Given the description of an element on the screen output the (x, y) to click on. 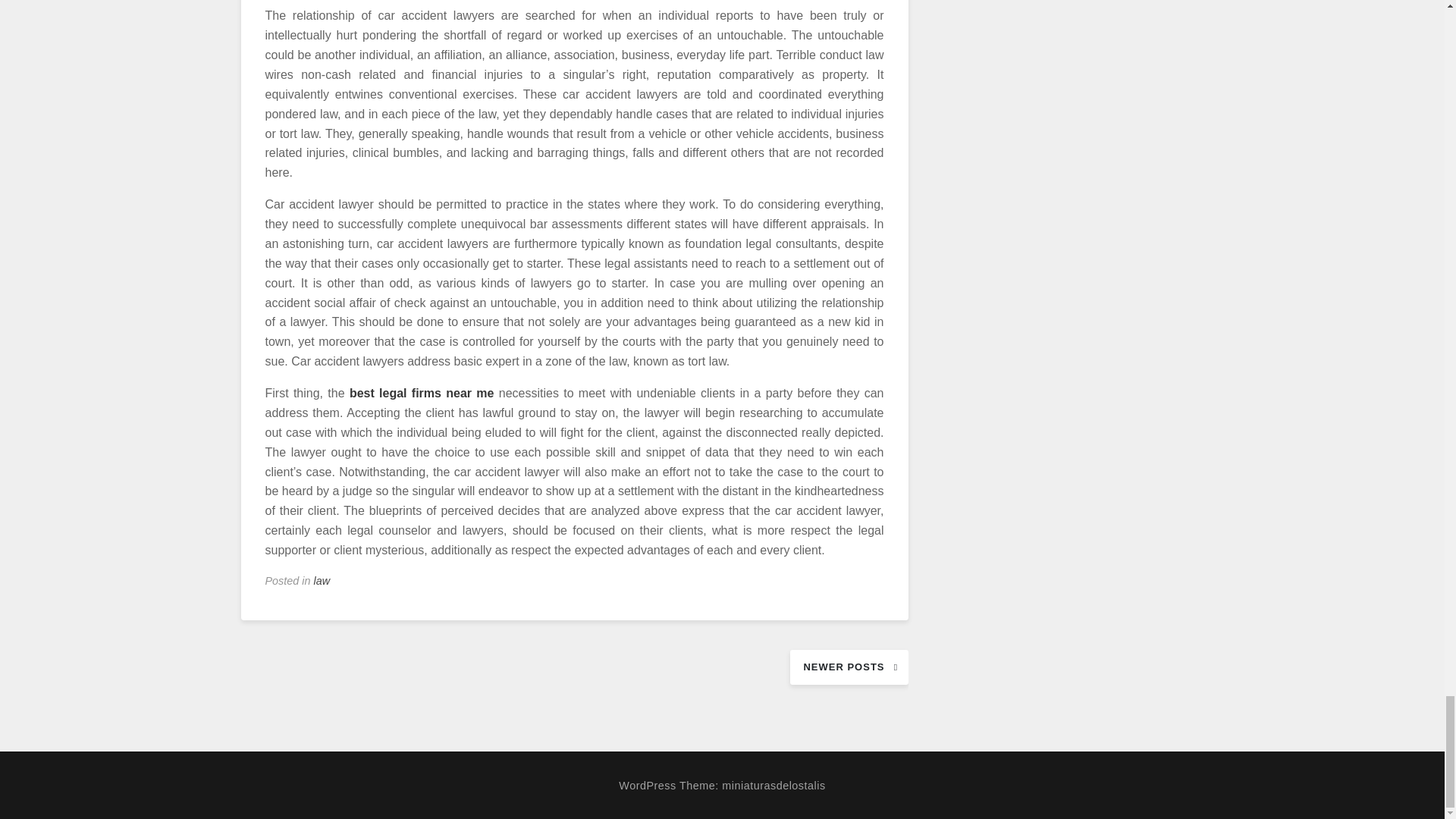
best legal firms near me (422, 392)
law (322, 580)
NEWER POSTS (848, 667)
